Given the description of an element on the screen output the (x, y) to click on. 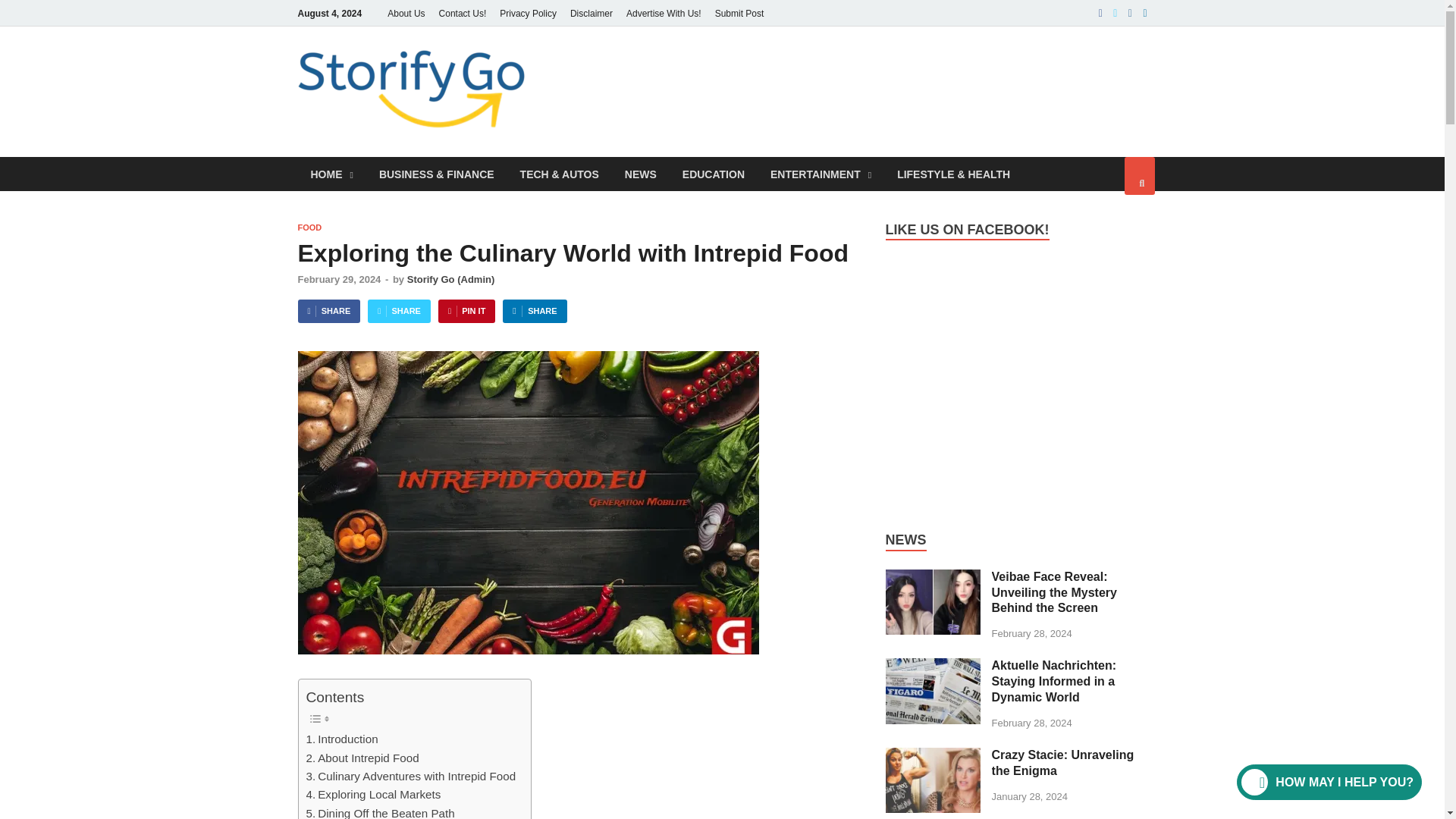
Dining Off the Beaten Path (379, 811)
Advertise With Us! (663, 13)
Exploring Local Markets (373, 794)
Contact Us! (462, 13)
EDUCATION (713, 173)
Privacy Policy (528, 13)
Storify Go (602, 77)
February 29, 2024 (338, 279)
Introduction (341, 739)
Disclaimer (591, 13)
HOME (331, 173)
SHARE (328, 310)
ENTERTAINMENT (820, 173)
About Us (405, 13)
Culinary Adventures with Intrepid Food (410, 776)
